Given the description of an element on the screen output the (x, y) to click on. 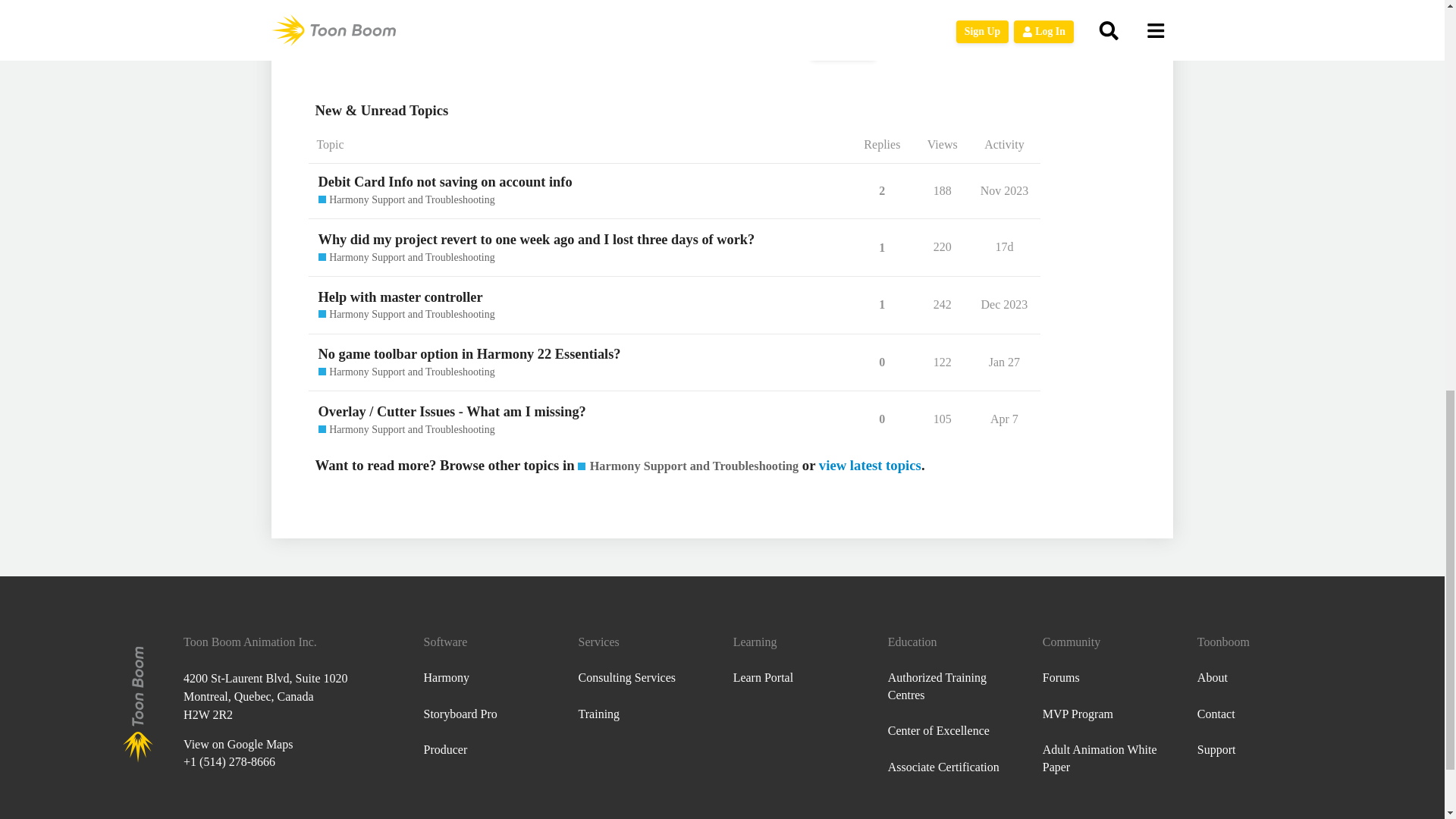
Reply (843, 45)
Help with master controller (400, 297)
Debit Card Info not saving on account info (445, 181)
Nov 2023 (1004, 190)
Harmony Support and Troubleshooting (406, 200)
Harmony Support and Troubleshooting (406, 257)
